Given the description of an element on the screen output the (x, y) to click on. 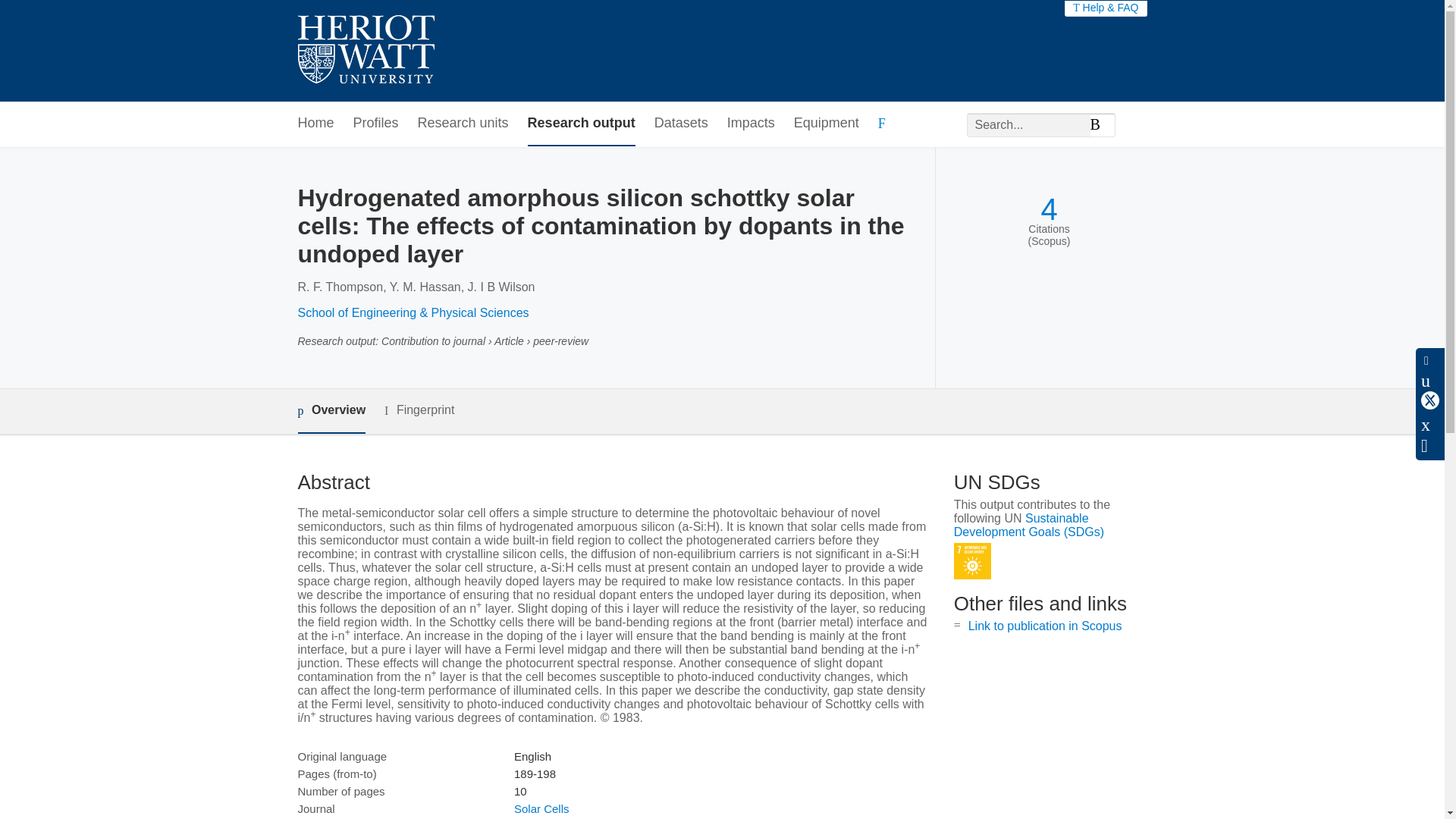
Datasets (680, 123)
Heriot-Watt Research Portal Home (365, 50)
Research units (462, 123)
Research output (580, 123)
Link to publication in Scopus (1045, 625)
Profiles (375, 123)
Impacts (750, 123)
Equipment (826, 123)
Solar Cells (541, 808)
Fingerprint (419, 410)
SDG 7 - Affordable and Clean Energy (972, 560)
Overview (331, 411)
